Given the description of an element on the screen output the (x, y) to click on. 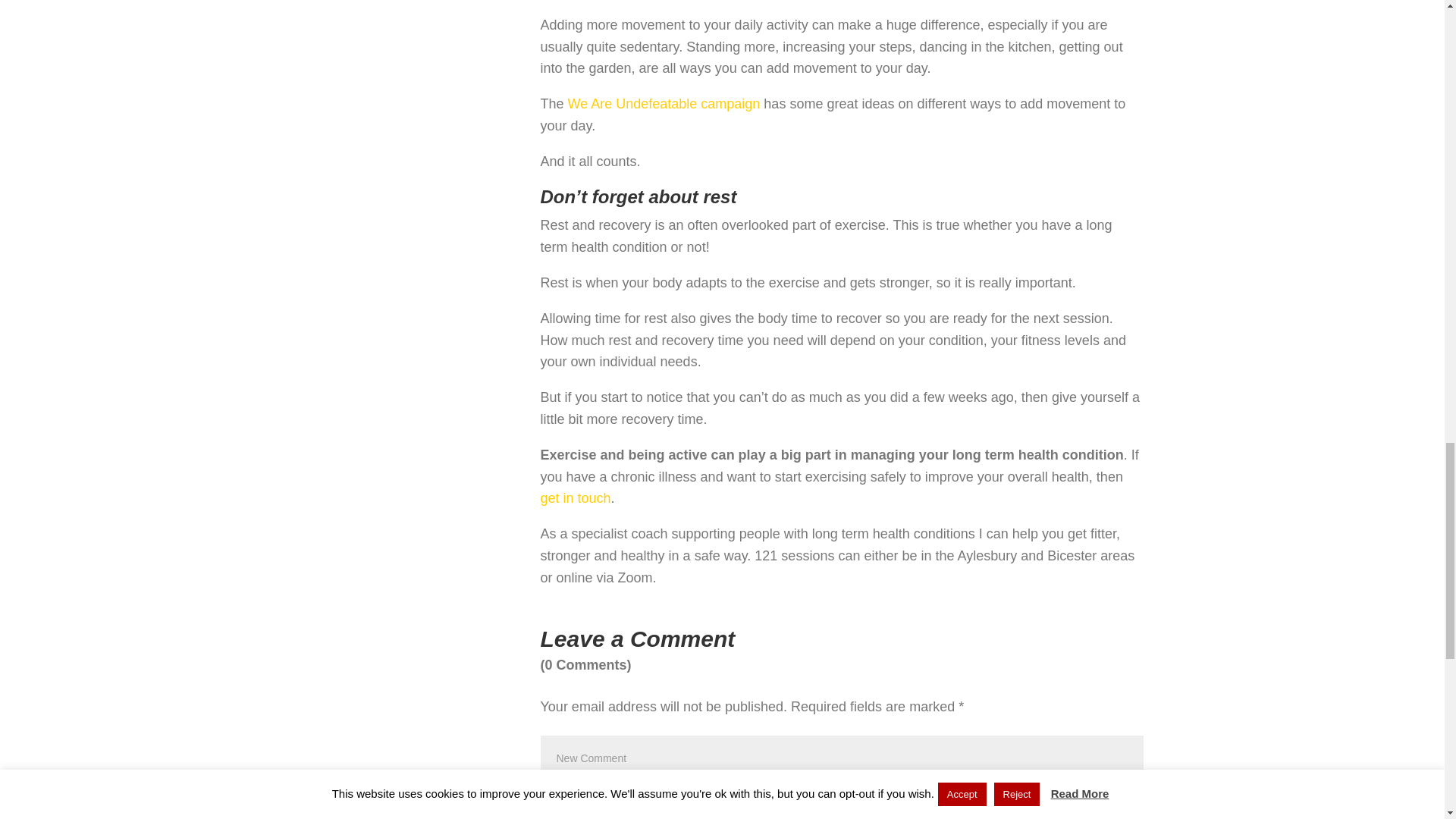
get in touch (575, 498)
We Are Undefeatable campaign (663, 103)
